Given the description of an element on the screen output the (x, y) to click on. 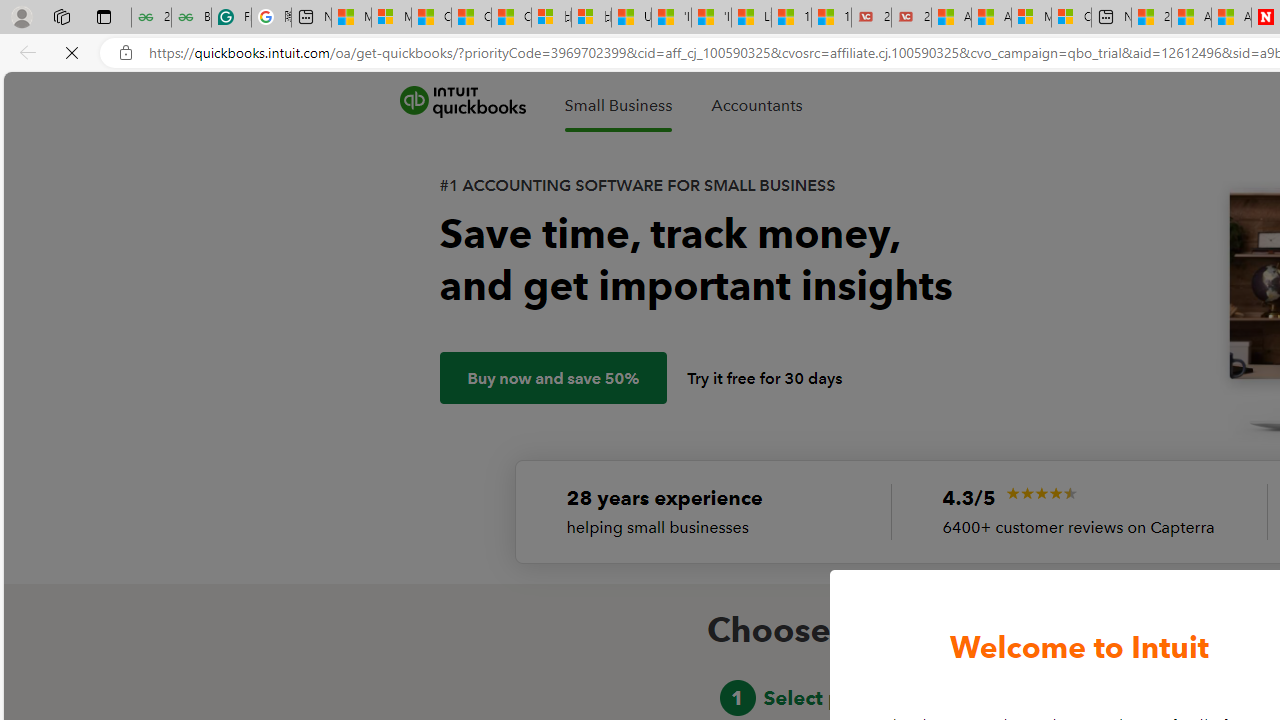
Small Business (618, 105)
quickbooks (462, 101)
Image Alt Text (1040, 493)
USA TODAY - MSN (631, 17)
Small Business (618, 105)
Lifestyle - MSN (751, 17)
Accountants (756, 105)
21 Movies That Outdid the Books They Were Based On (911, 17)
